Given the description of an element on the screen output the (x, y) to click on. 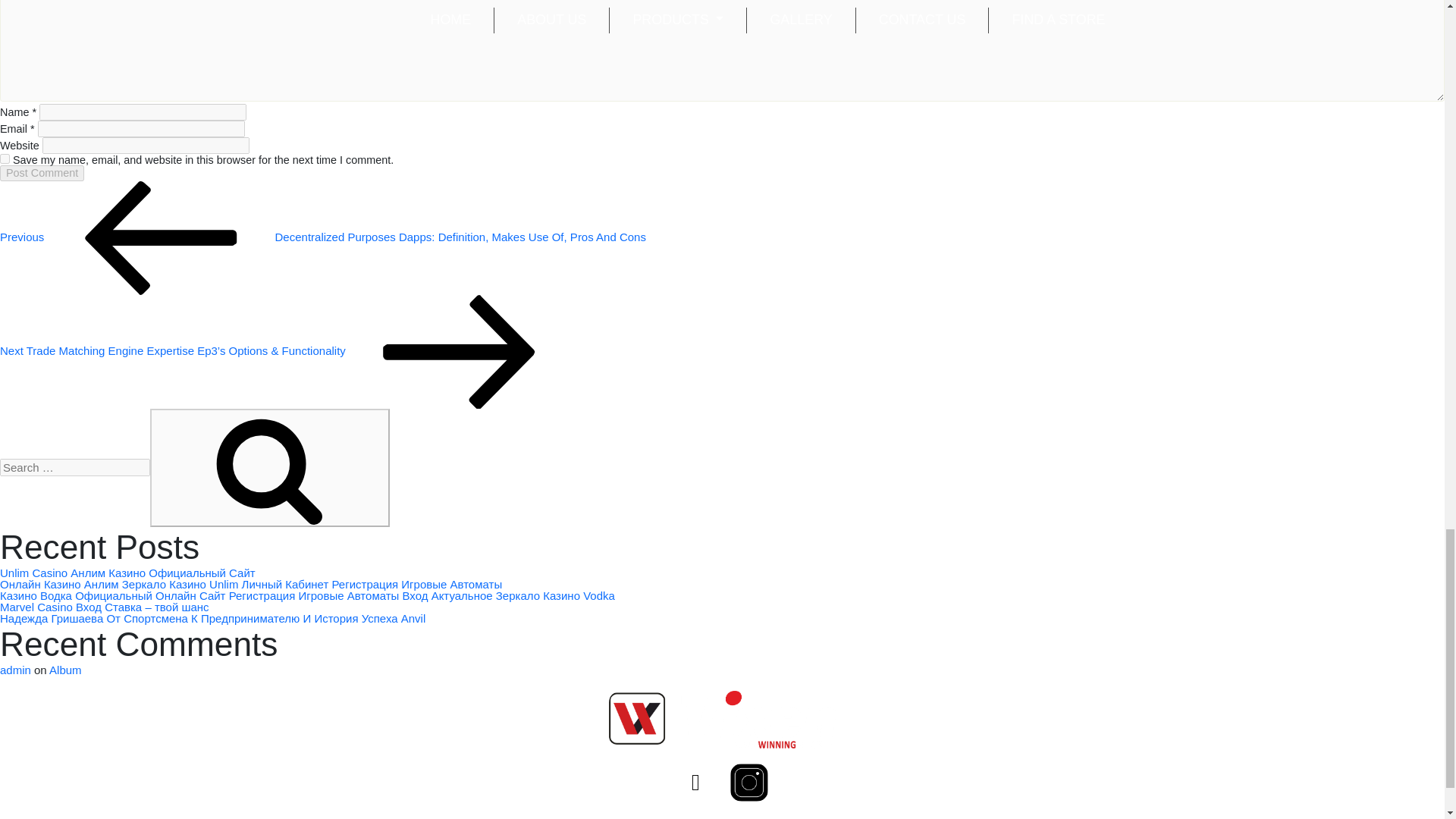
Post Comment (42, 172)
yes (5, 158)
